Given the description of an element on the screen output the (x, y) to click on. 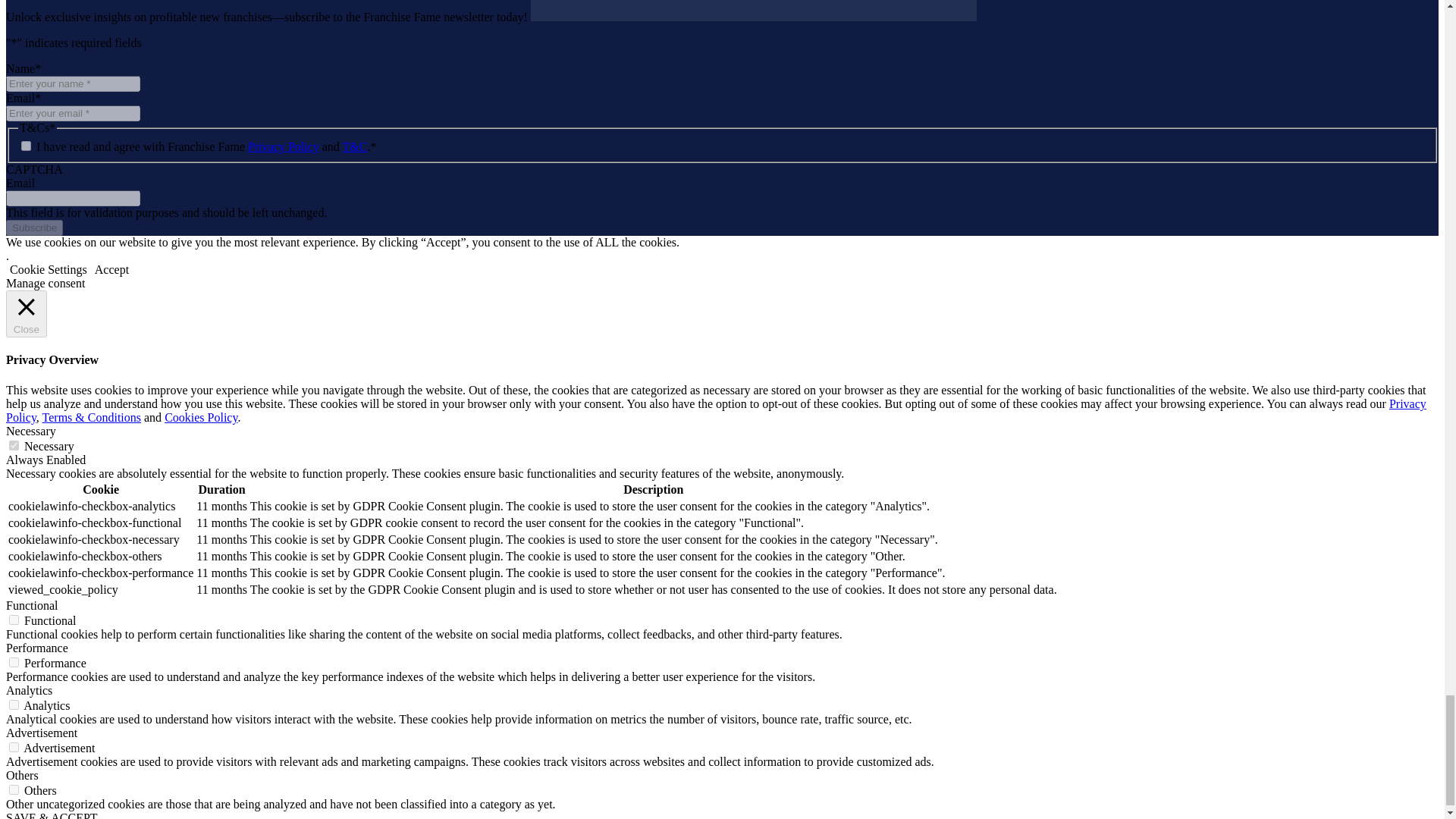
on (13, 445)
1 (25, 145)
Subscribe (33, 227)
